Given the description of an element on the screen output the (x, y) to click on. 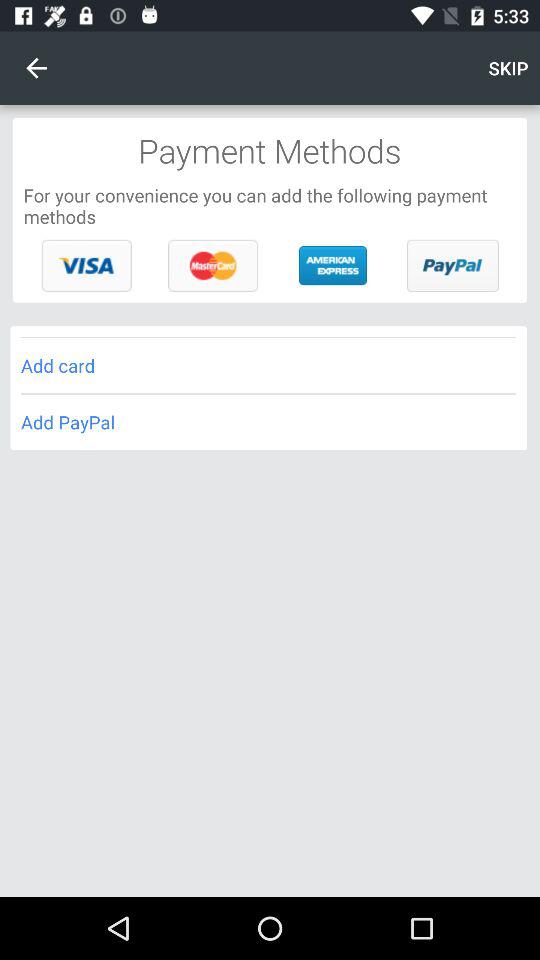
open icon next to the skip item (36, 68)
